Given the description of an element on the screen output the (x, y) to click on. 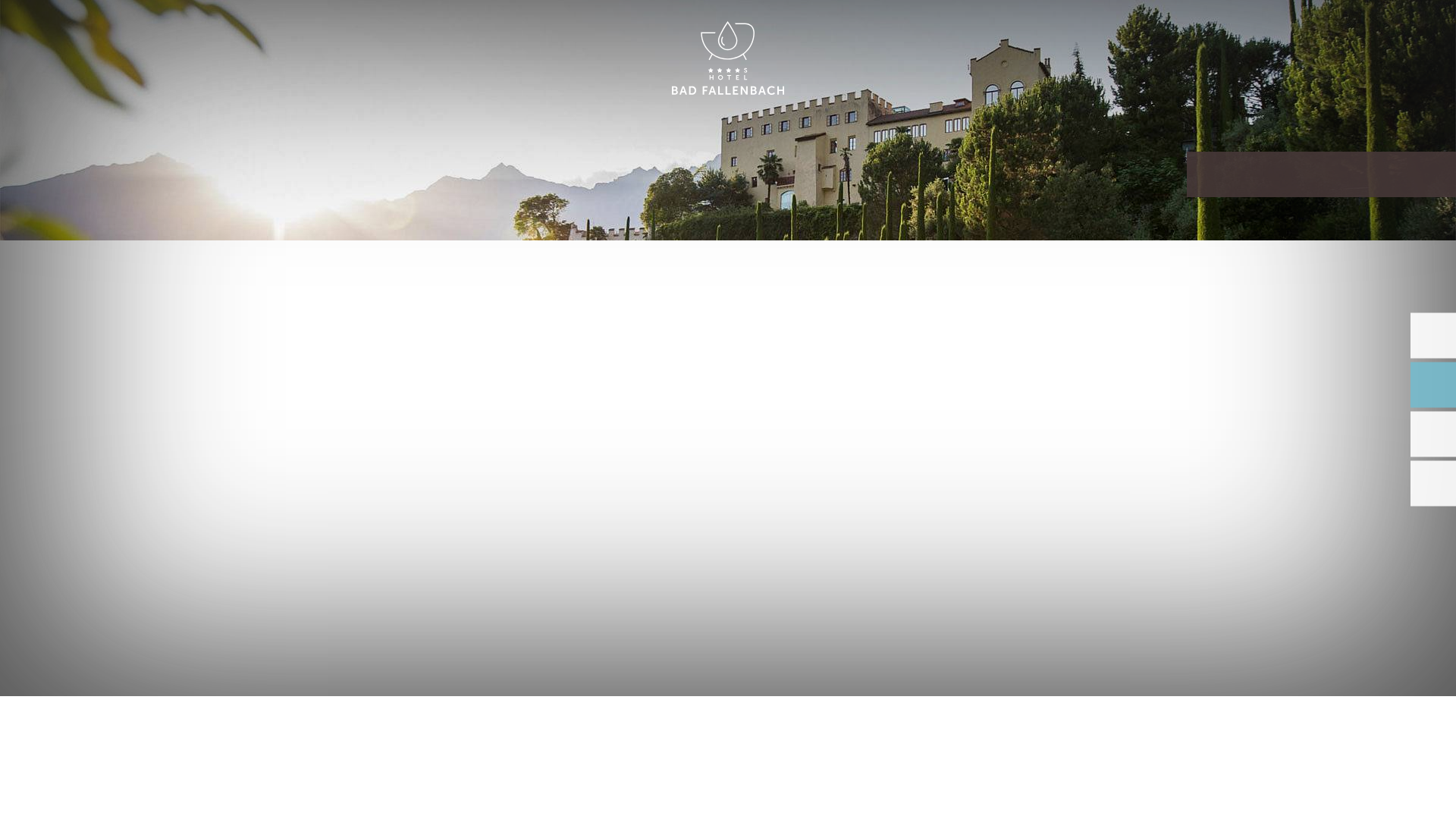
ENGLISH (1291, 29)
HOTEL BAD FALLENBACH (727, 59)
